Given the description of an element on the screen output the (x, y) to click on. 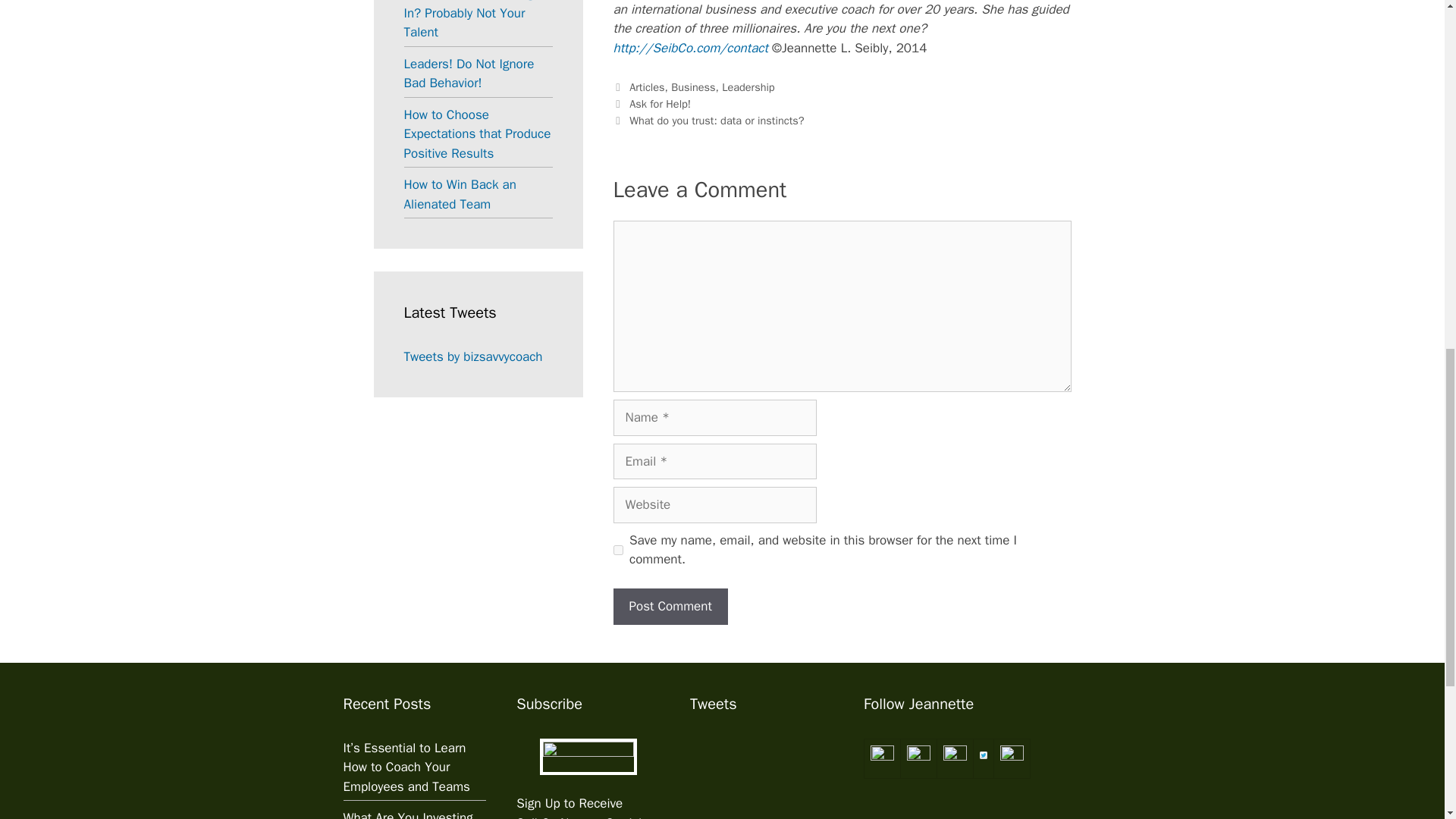
Articles (645, 87)
yes (617, 550)
What do you trust: data or instincts? (715, 120)
Ask for Help! (659, 103)
Post Comment (669, 606)
Leadership (748, 87)
Business (692, 87)
Scroll back to top (1406, 720)
